Given the description of an element on the screen output the (x, y) to click on. 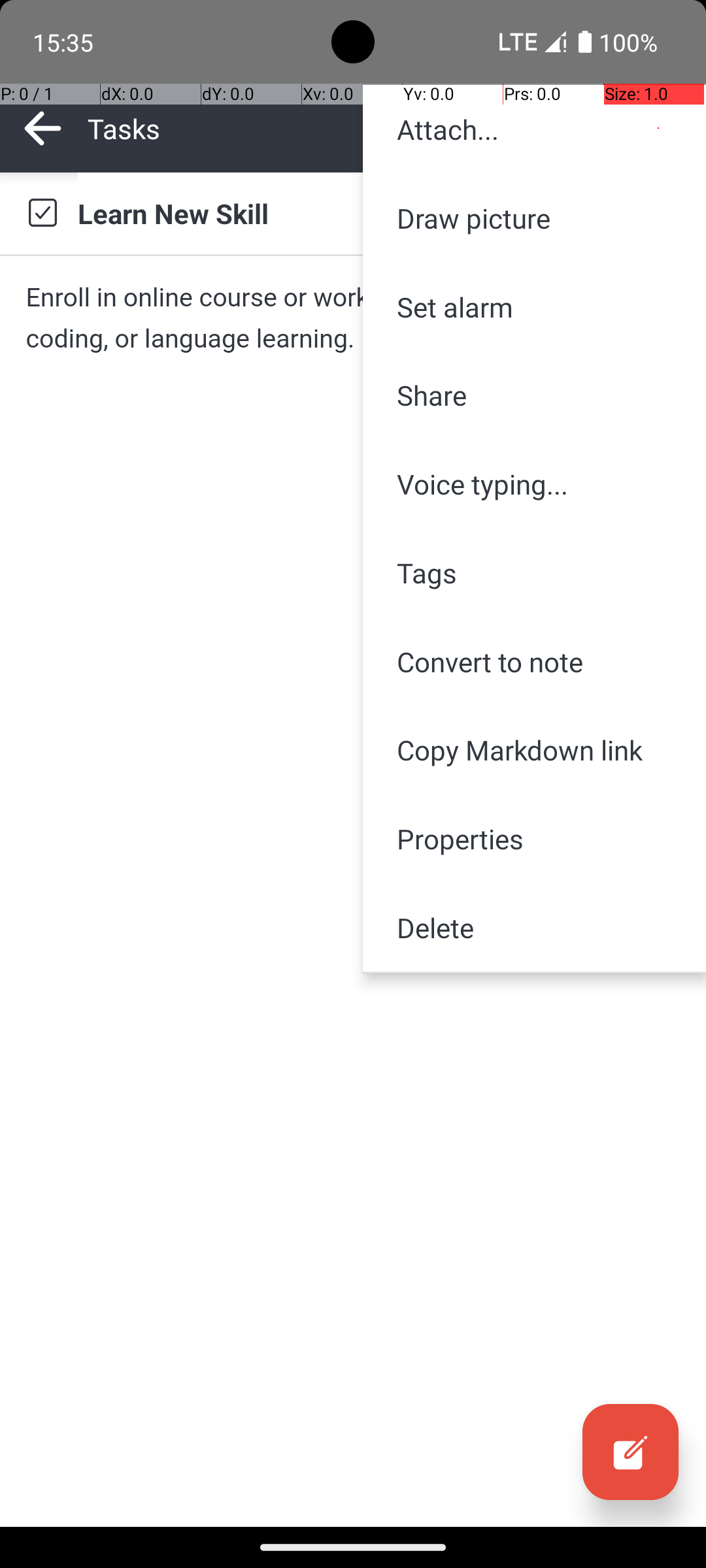
Learn New Skill Element type: android.widget.EditText (378, 213)
Attach... Element type: android.widget.TextView (534, 129)
Draw picture Element type: android.widget.TextView (534, 217)
Set alarm Element type: android.widget.TextView (534, 306)
Voice typing... Element type: android.widget.TextView (534, 484)
Convert to note Element type: android.widget.TextView (534, 661)
Copy Markdown link Element type: android.widget.TextView (534, 749)
Properties Element type: android.widget.TextView (534, 838)
Enroll in online course or workshop on photography, coding, or language learning. Element type: android.widget.TextView (352, 317)
